Given the description of an element on the screen output the (x, y) to click on. 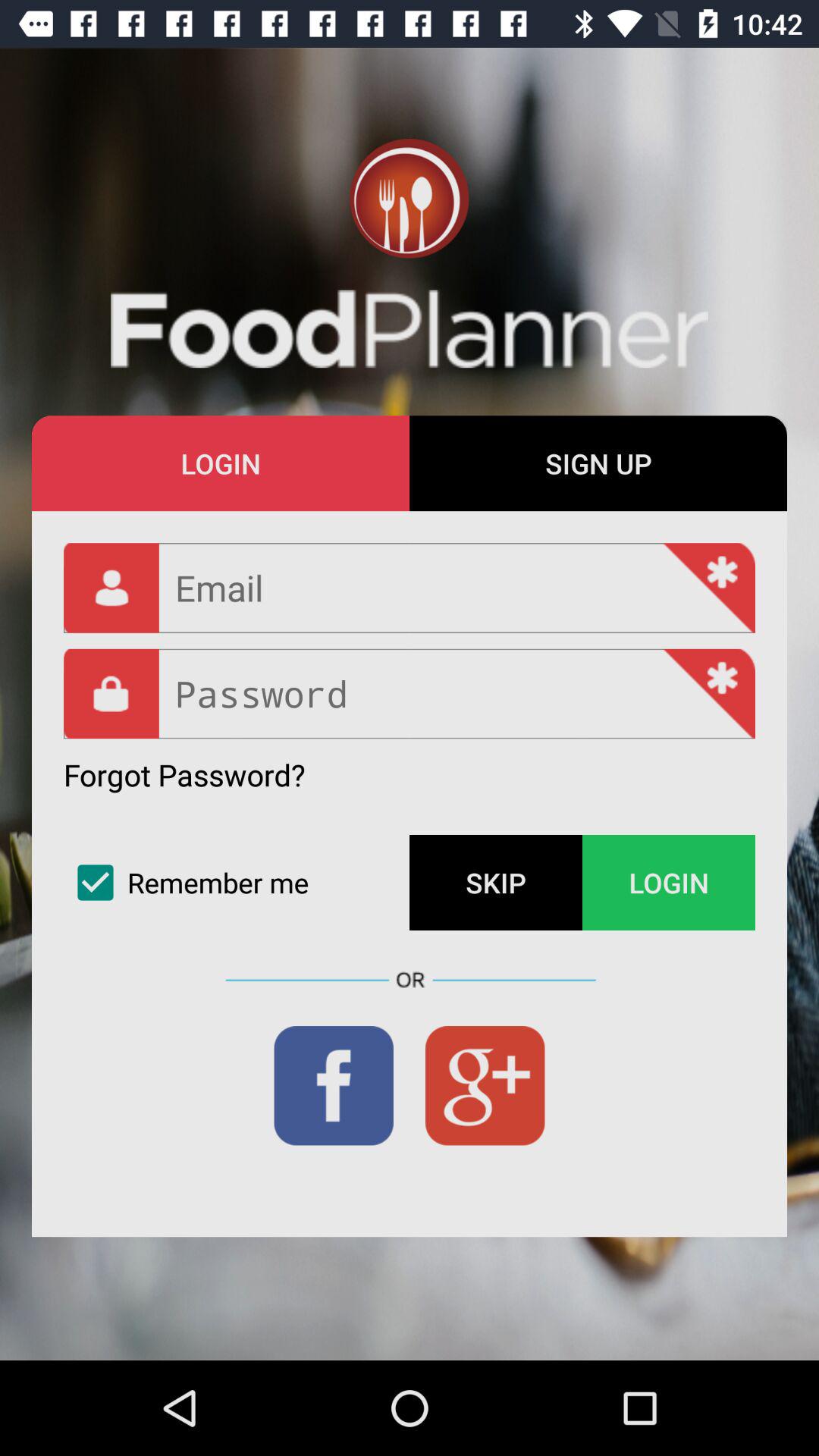
press icon to the right of login item (598, 463)
